Given the description of an element on the screen output the (x, y) to click on. 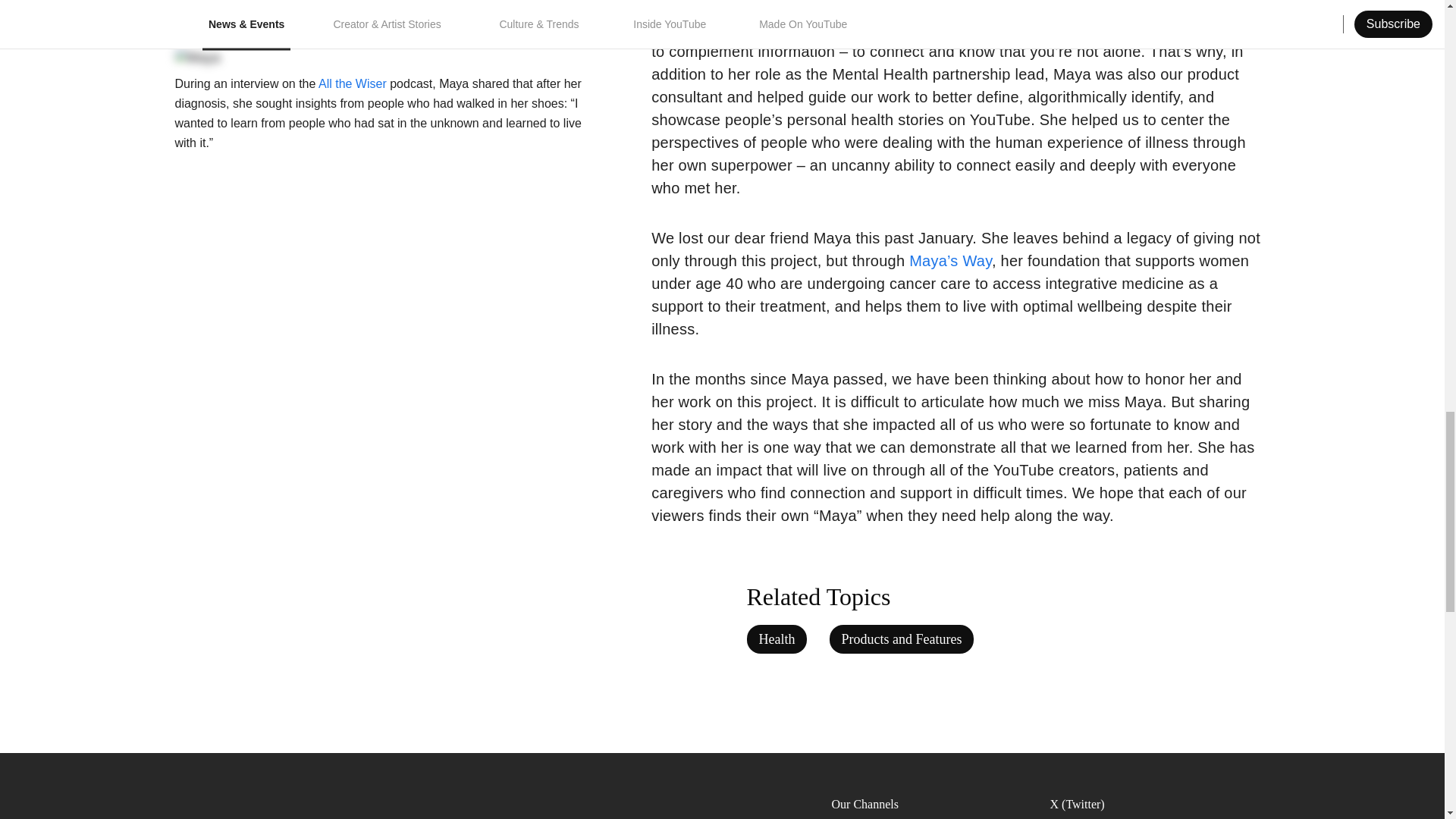
Our Channels (928, 804)
Health (775, 638)
Health (775, 638)
Products and Features (901, 638)
Products and Features (901, 638)
